Given the description of an element on the screen output the (x, y) to click on. 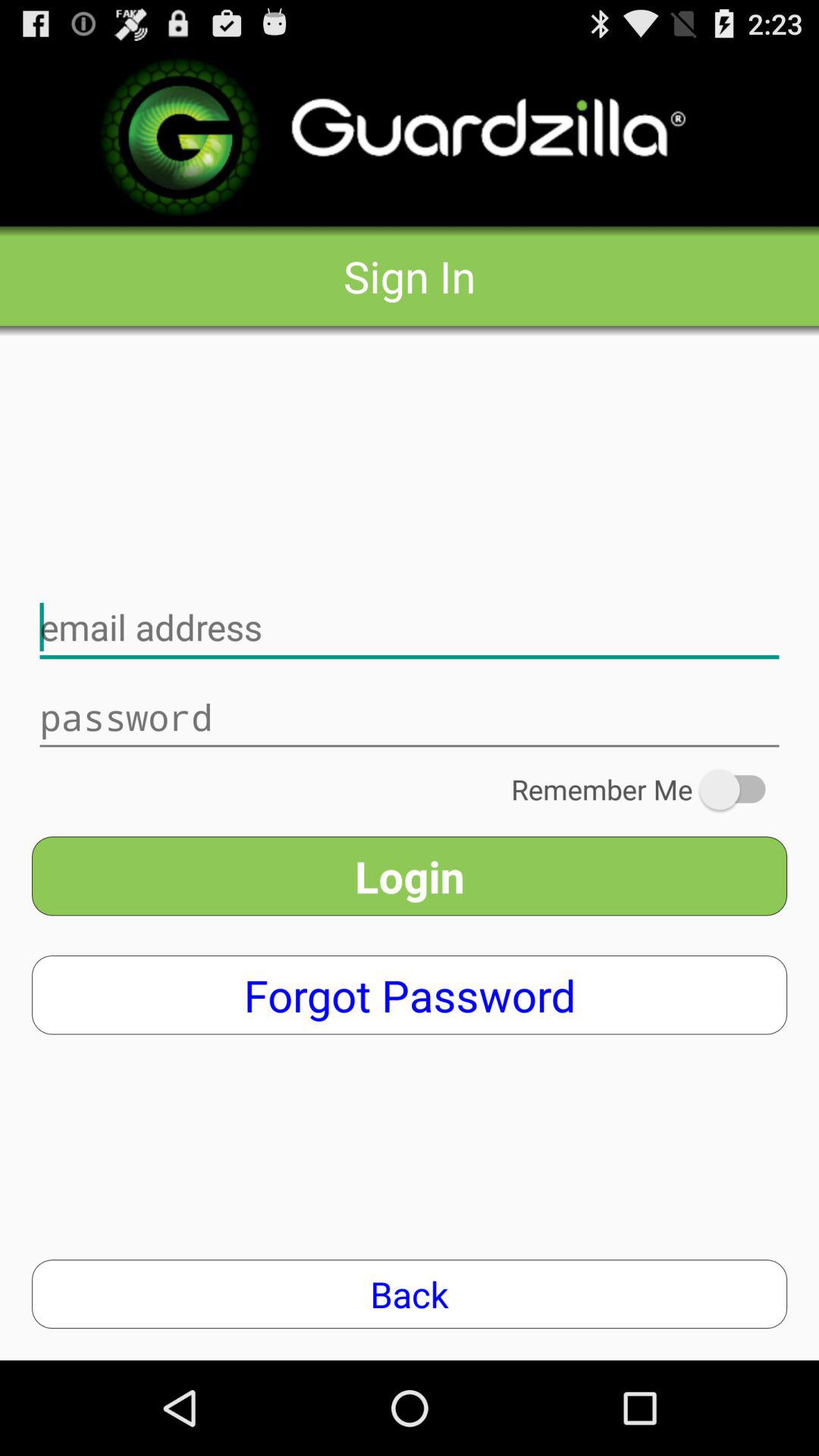
click the back (409, 1293)
